Given the description of an element on the screen output the (x, y) to click on. 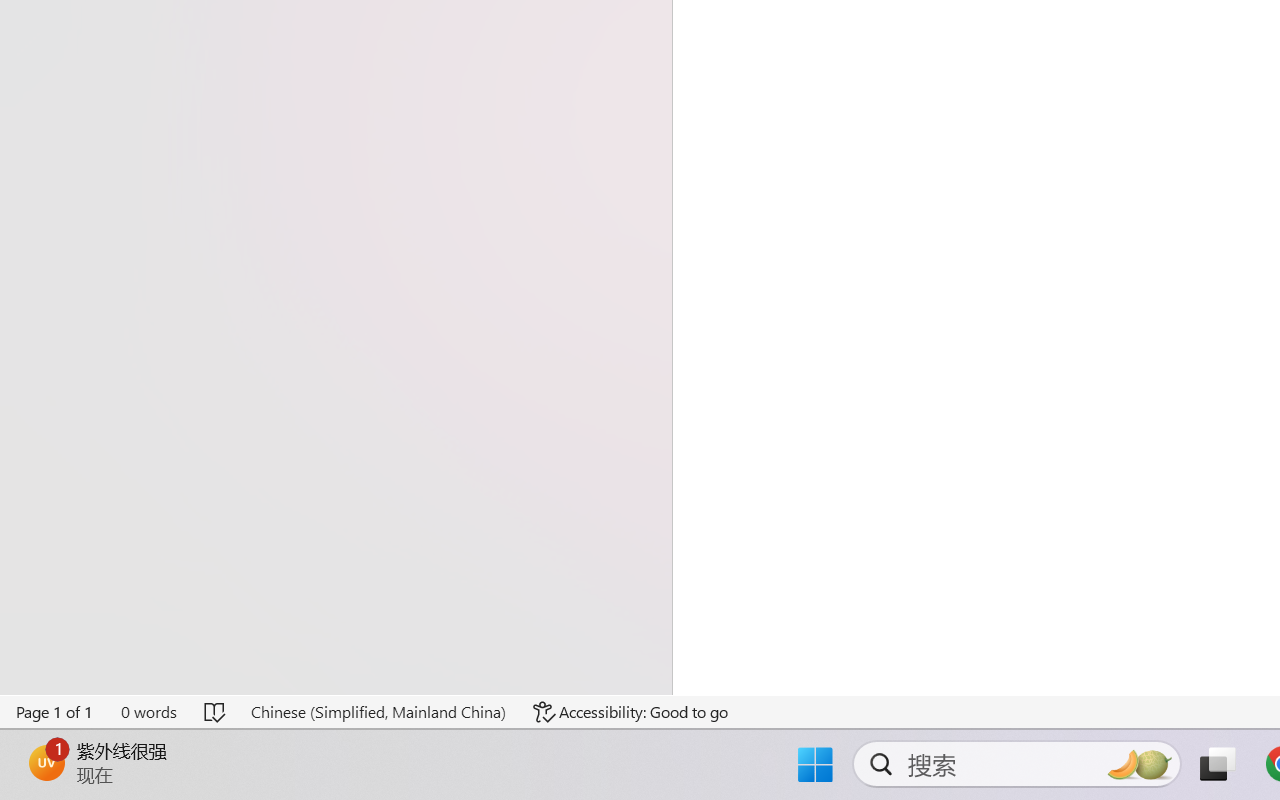
Language Chinese (Simplified, Mainland China) (378, 712)
